Given the description of an element on the screen output the (x, y) to click on. 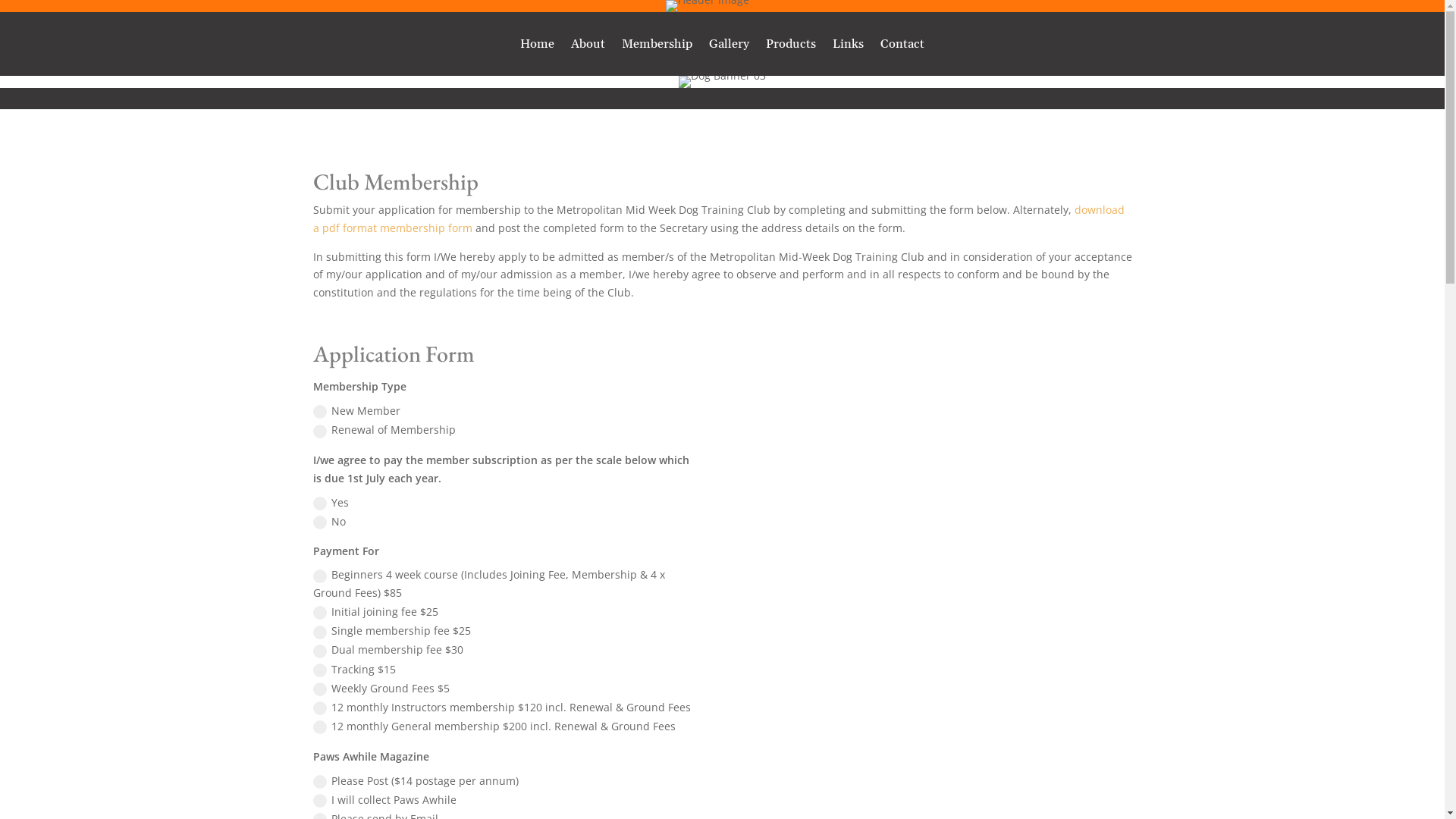
dog_banner_03 Element type: hover (721, 81)
download a pdf format membership form Element type: text (717, 218)
Home Element type: text (537, 46)
dog_training_club Element type: hover (707, 6)
Gallery Element type: text (729, 46)
Links Element type: text (847, 46)
Membership Element type: text (656, 46)
About Element type: text (588, 46)
Contact Element type: text (902, 46)
Products Element type: text (790, 46)
